Given the description of an element on the screen output the (x, y) to click on. 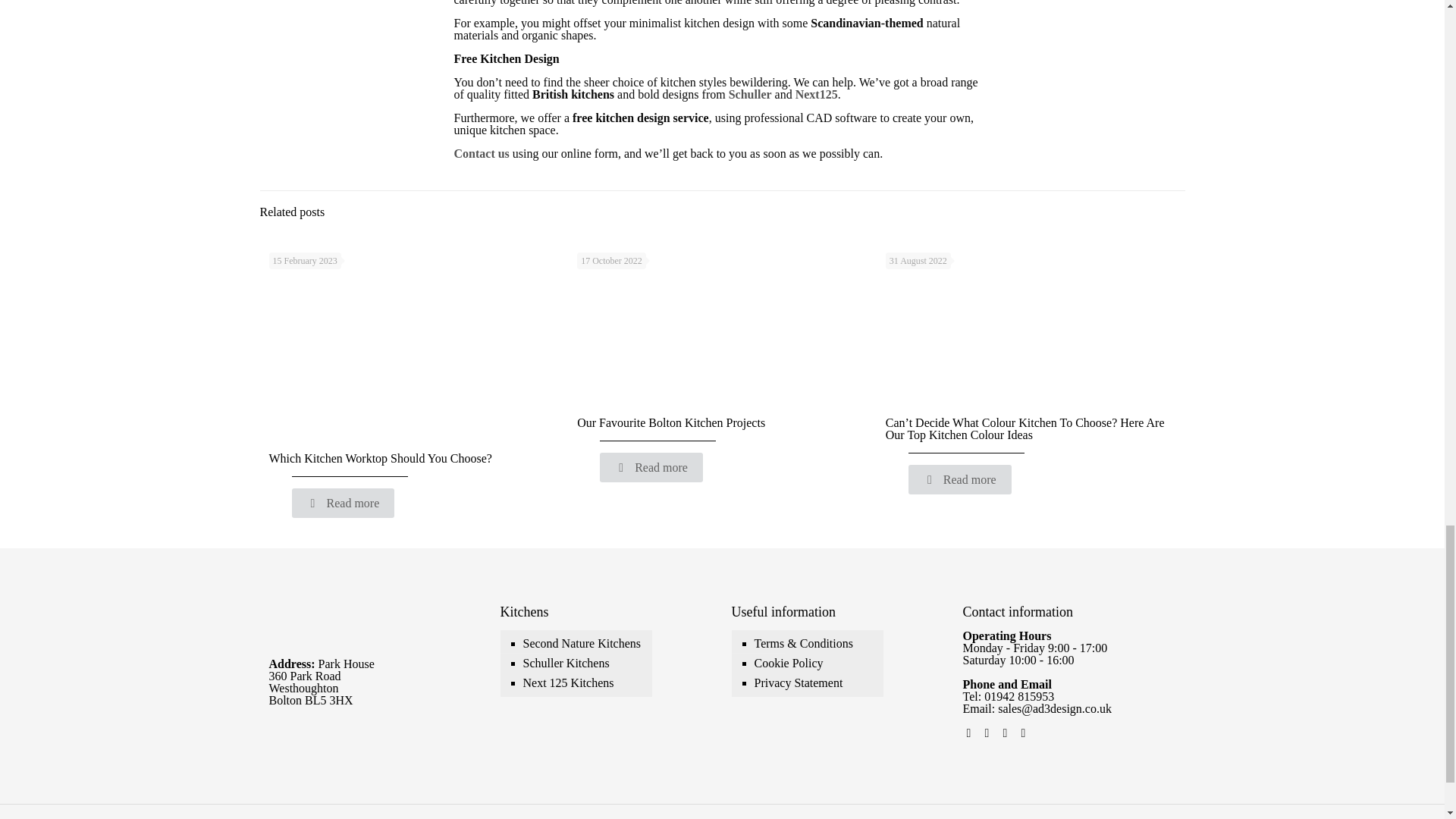
Our Favourite Bolton Kitchen Projects (670, 422)
Schuller (750, 93)
Which Kitchen Worktop Should You Choose? (379, 458)
Read more (651, 467)
Contact us (480, 153)
Next125 (816, 93)
Read more (342, 502)
